Given the description of an element on the screen output the (x, y) to click on. 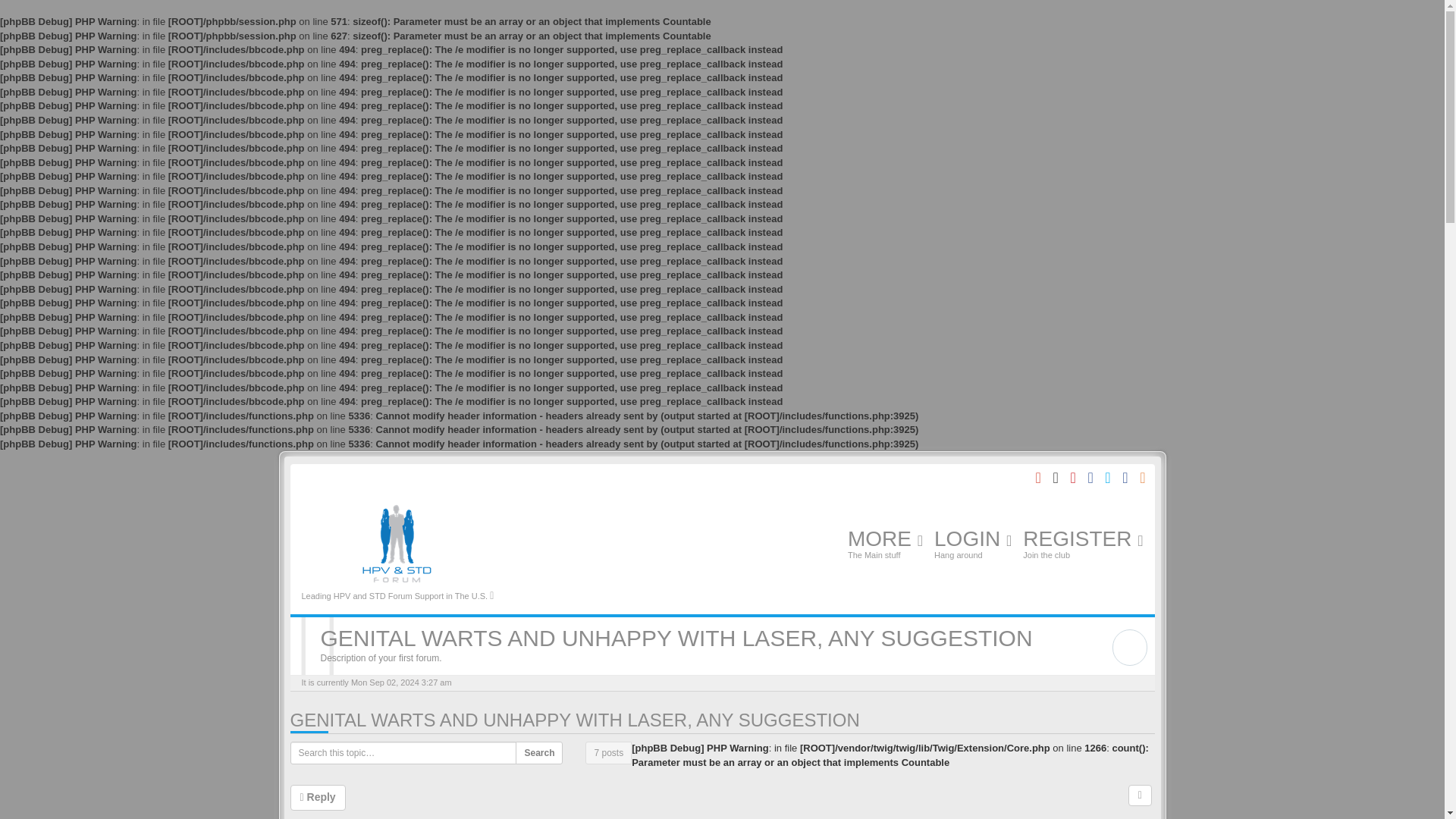
Search (538, 753)
Print view (1139, 794)
GENITAL WARTS AND UNHAPPY WITH LASER, ANY SUGGESTION (574, 720)
Search for keywords (1129, 647)
LOGIN (972, 545)
REGISTER (1083, 545)
7 posts (608, 753)
 Reply (317, 797)
MORE  (885, 545)
